Given the description of an element on the screen output the (x, y) to click on. 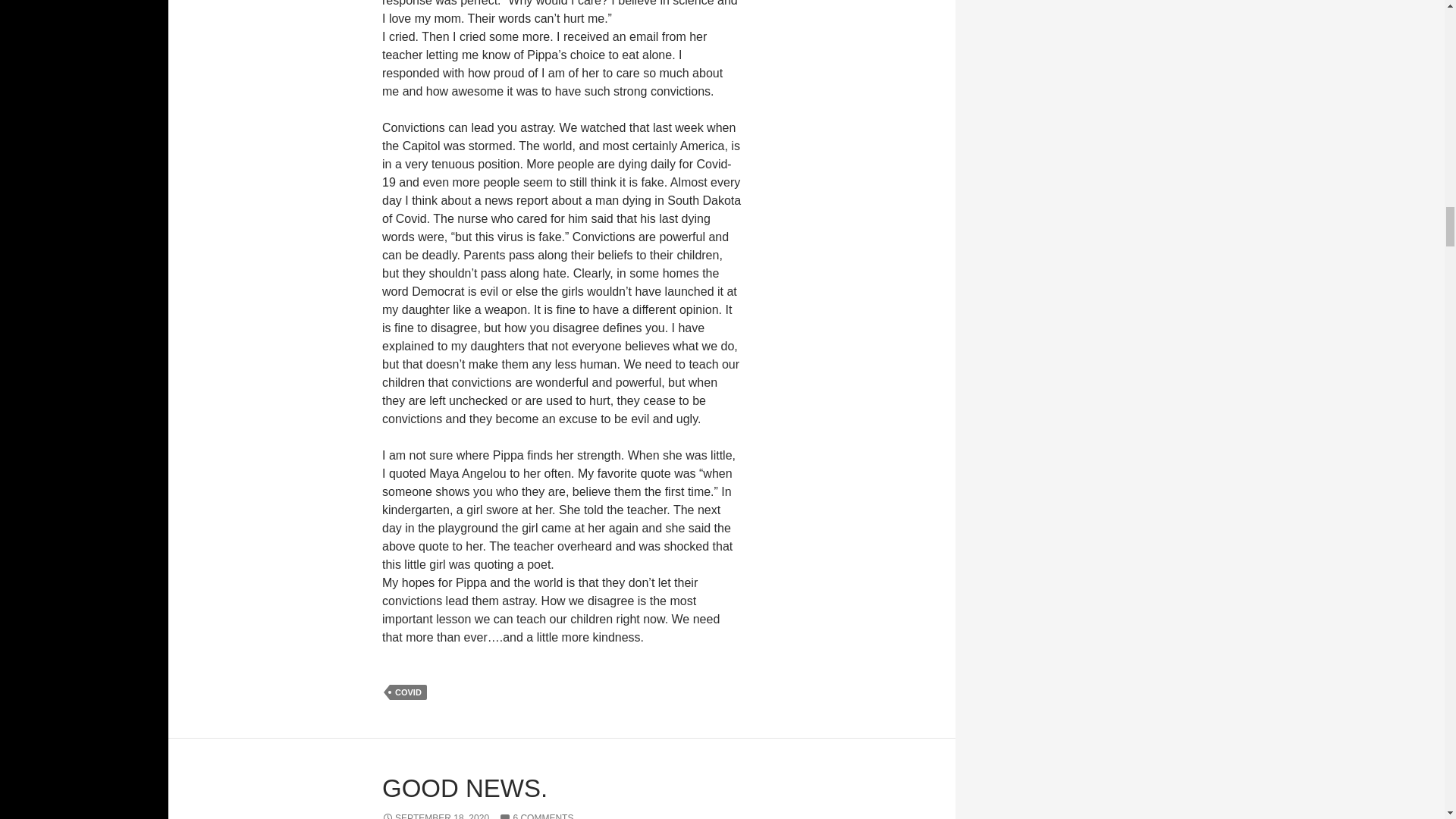
SEPTEMBER 18, 2020 (435, 816)
6 COMMENTS (536, 816)
COVID (408, 692)
GOOD NEWS. (464, 787)
